Given the description of an element on the screen output the (x, y) to click on. 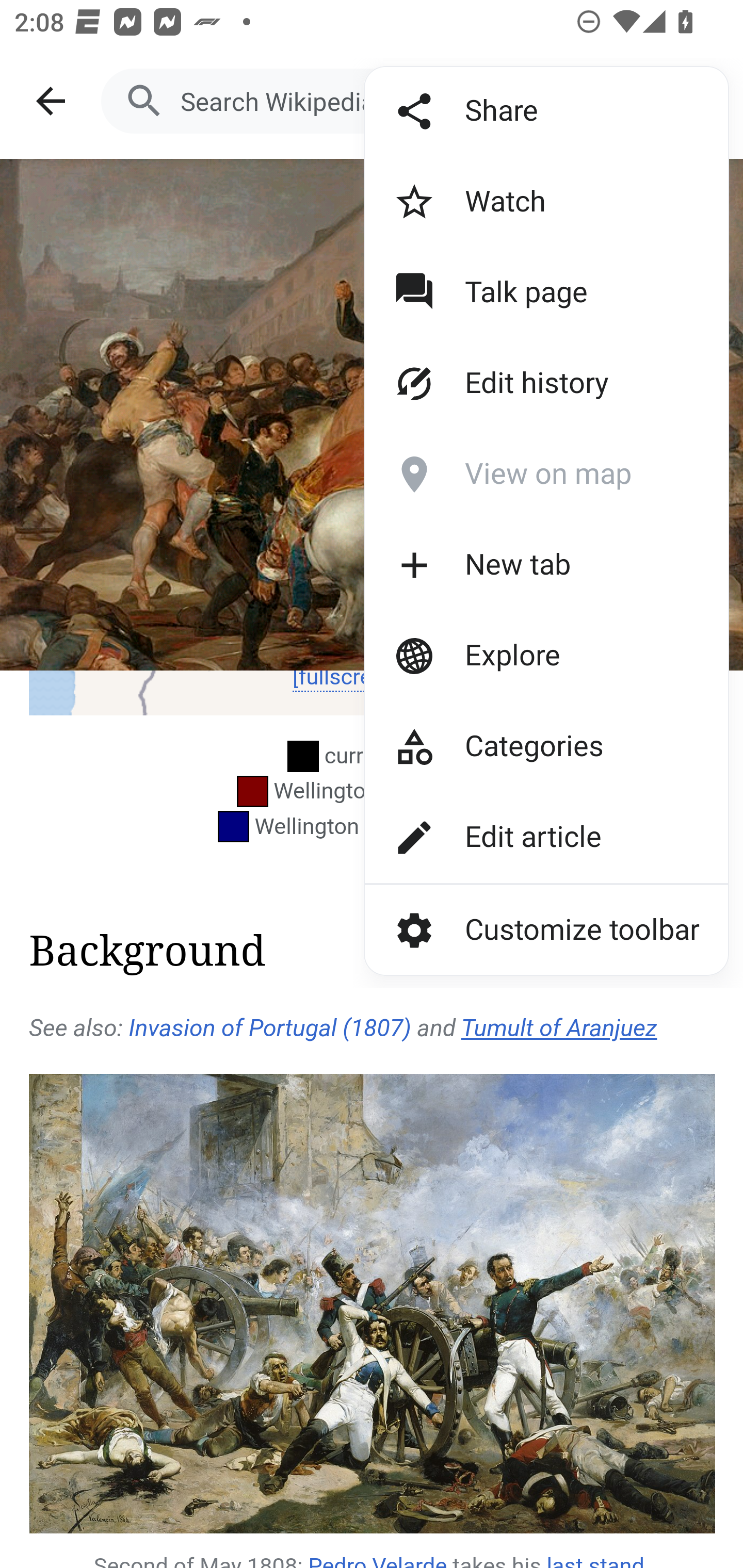
Share (512, 110)
Watch (512, 201)
Talk page (512, 292)
Edit history (512, 383)
View on map (512, 474)
New tab (512, 564)
Explore (512, 654)
Categories (512, 745)
Edit article (512, 836)
Customize toolbar (546, 929)
